Given the description of an element on the screen output the (x, y) to click on. 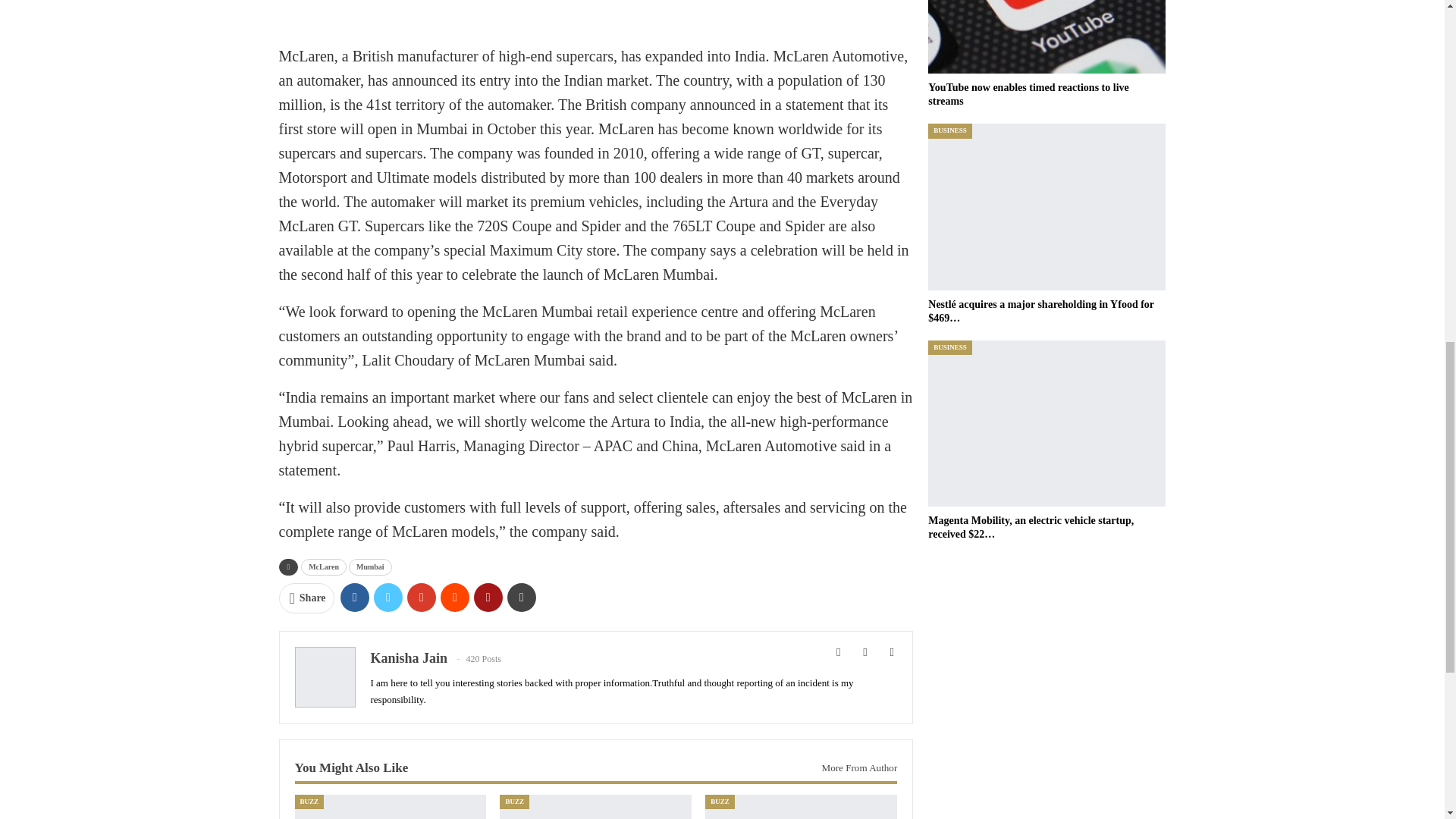
For the NMACC, Zendaya dresses in indian fashion (390, 806)
Advertisement (596, 17)
